Given the description of an element on the screen output the (x, y) to click on. 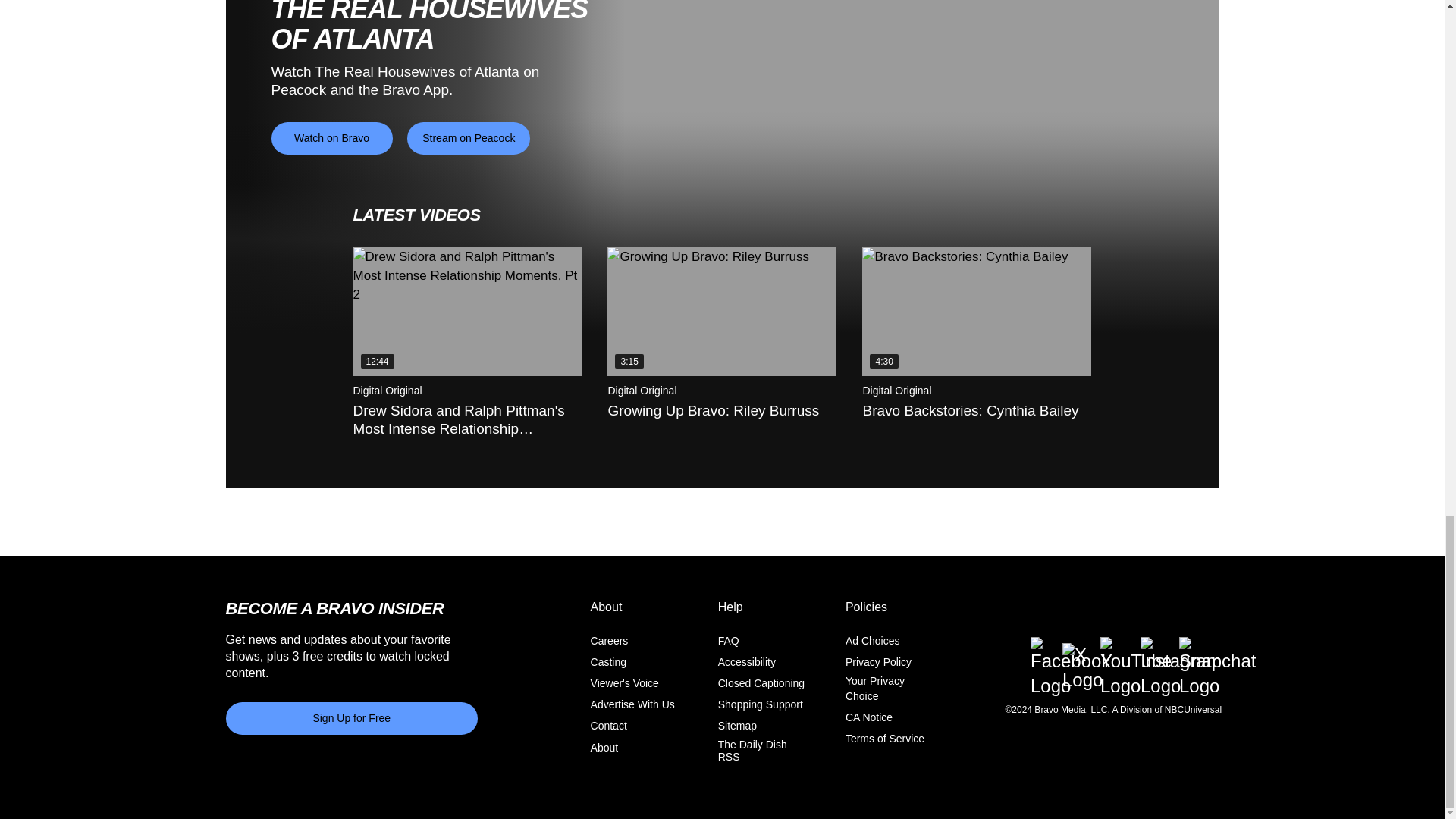
Advertise With Us (633, 704)
Bravo Backstories: Cynthia Bailey (975, 311)
Growing Up Bravo: Riley Burruss (721, 311)
